Given the description of an element on the screen output the (x, y) to click on. 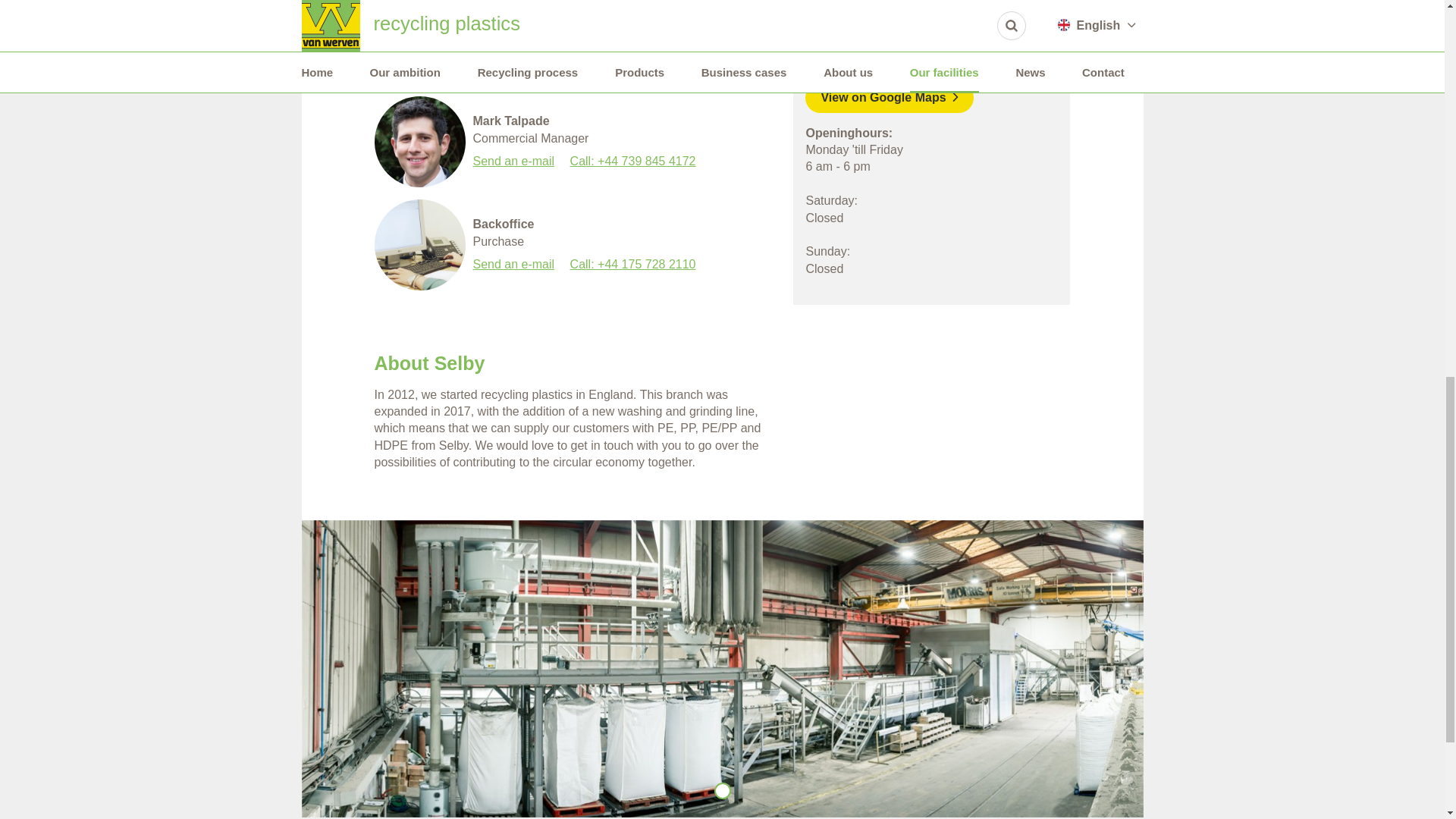
Call Van Werven Plastic Recycling (895, 43)
View on Google Maps (888, 97)
1 (722, 790)
Mail Van Werven Plastic Recycling (932, 60)
Send an e-mail (513, 161)
Send an e-mail (513, 57)
Send an e-mail (513, 264)
